Given the description of an element on the screen output the (x, y) to click on. 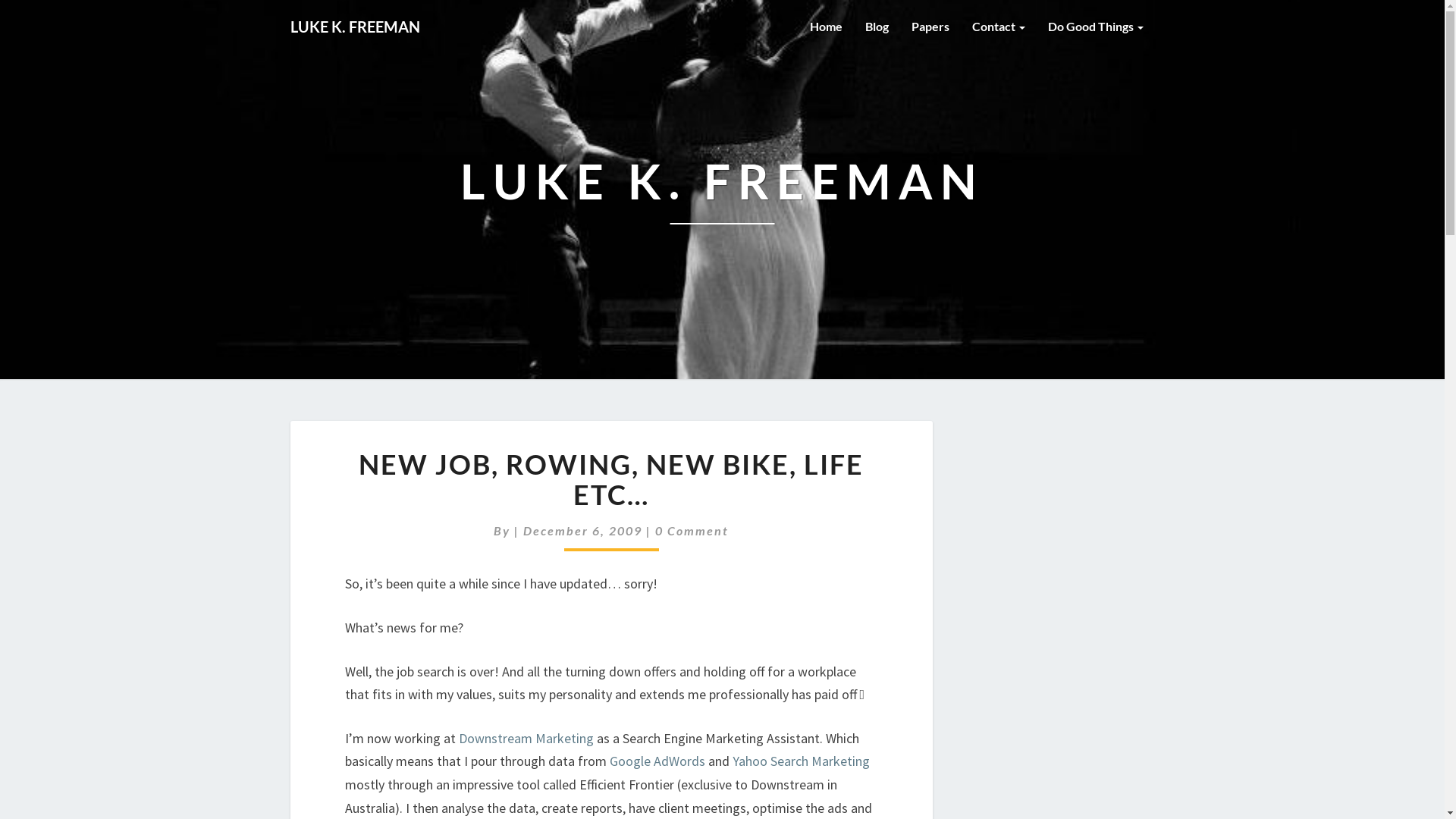
Papers Element type: text (929, 26)
Do Good Things Element type: text (1094, 26)
Downstream Marketing Element type: text (525, 737)
Home Element type: text (825, 26)
LUKE K. FREEMAN Element type: text (722, 204)
0 Comment Element type: text (691, 530)
Google AdWords Element type: text (657, 760)
Blog Element type: text (876, 26)
December 6, 2009 Element type: text (584, 530)
Yahoo Search Marketing Element type: text (800, 760)
Contact Element type: text (997, 26)
